Given the description of an element on the screen output the (x, y) to click on. 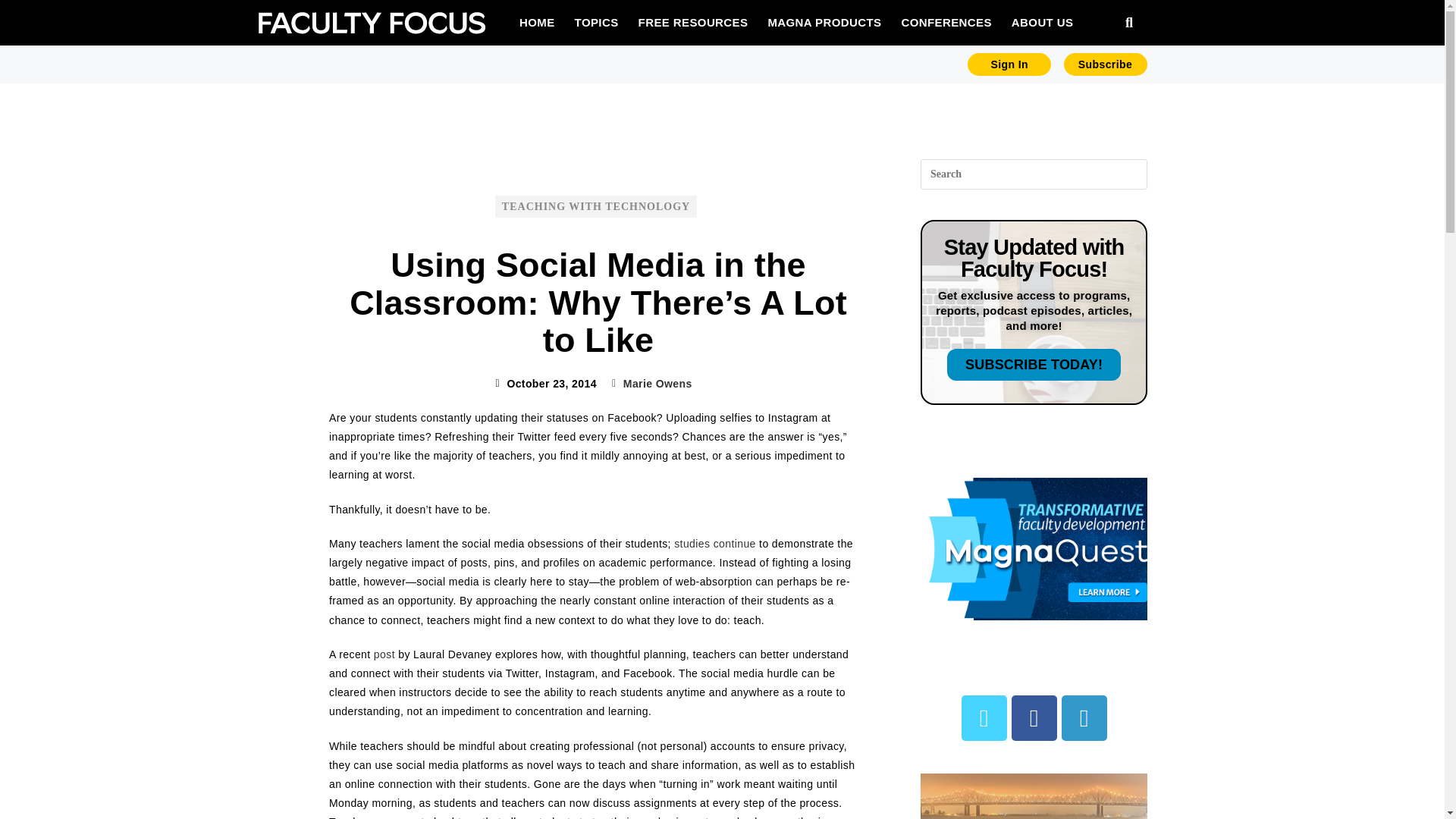
HOME (536, 22)
ABOUT US (1042, 22)
MAGNA PRODUCTS (824, 22)
TOPICS (596, 22)
FREE RESOURCES (693, 22)
CONFERENCES (945, 22)
